Given the description of an element on the screen output the (x, y) to click on. 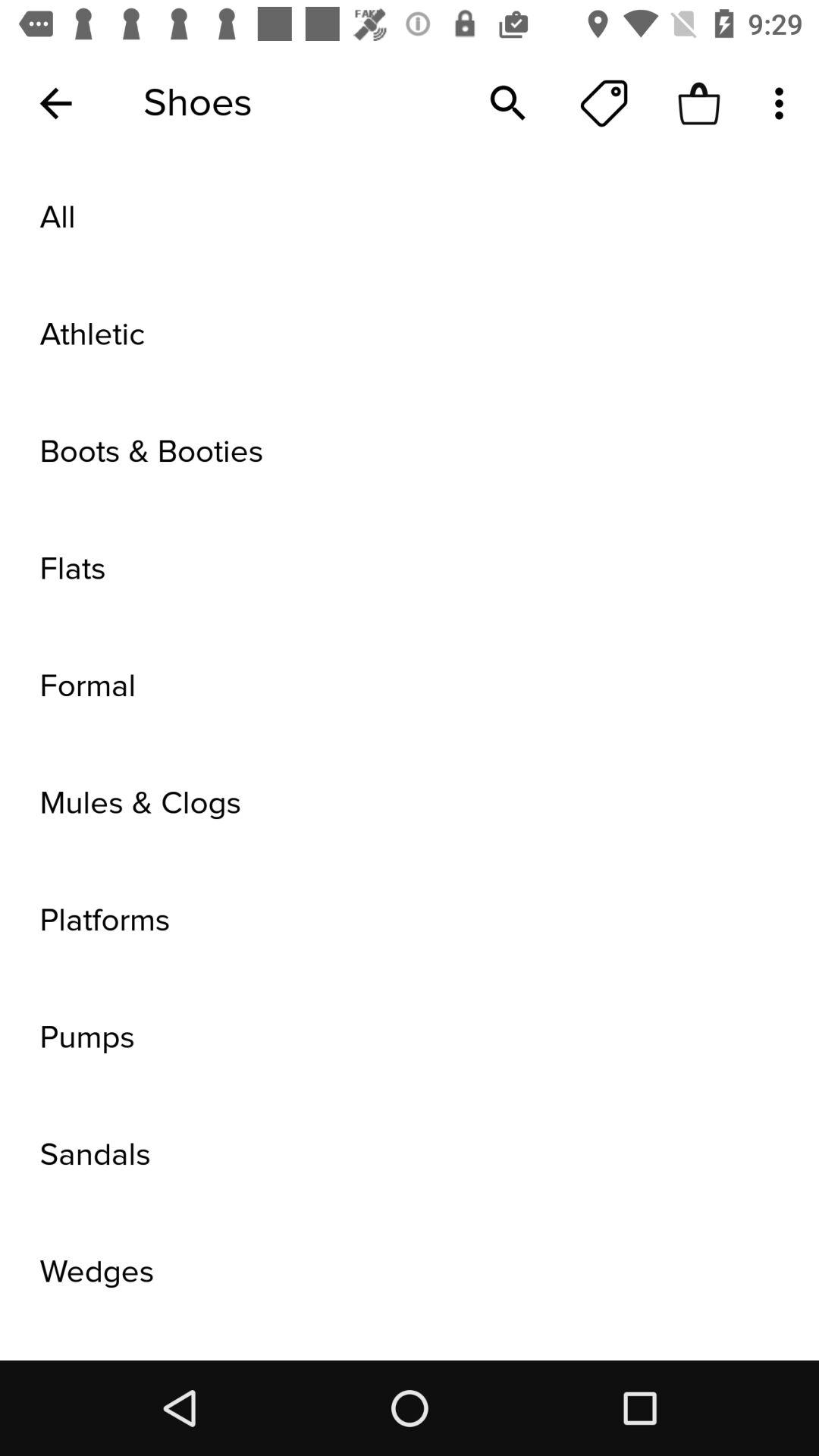
launch the sandals item (409, 1154)
